Given the description of an element on the screen output the (x, y) to click on. 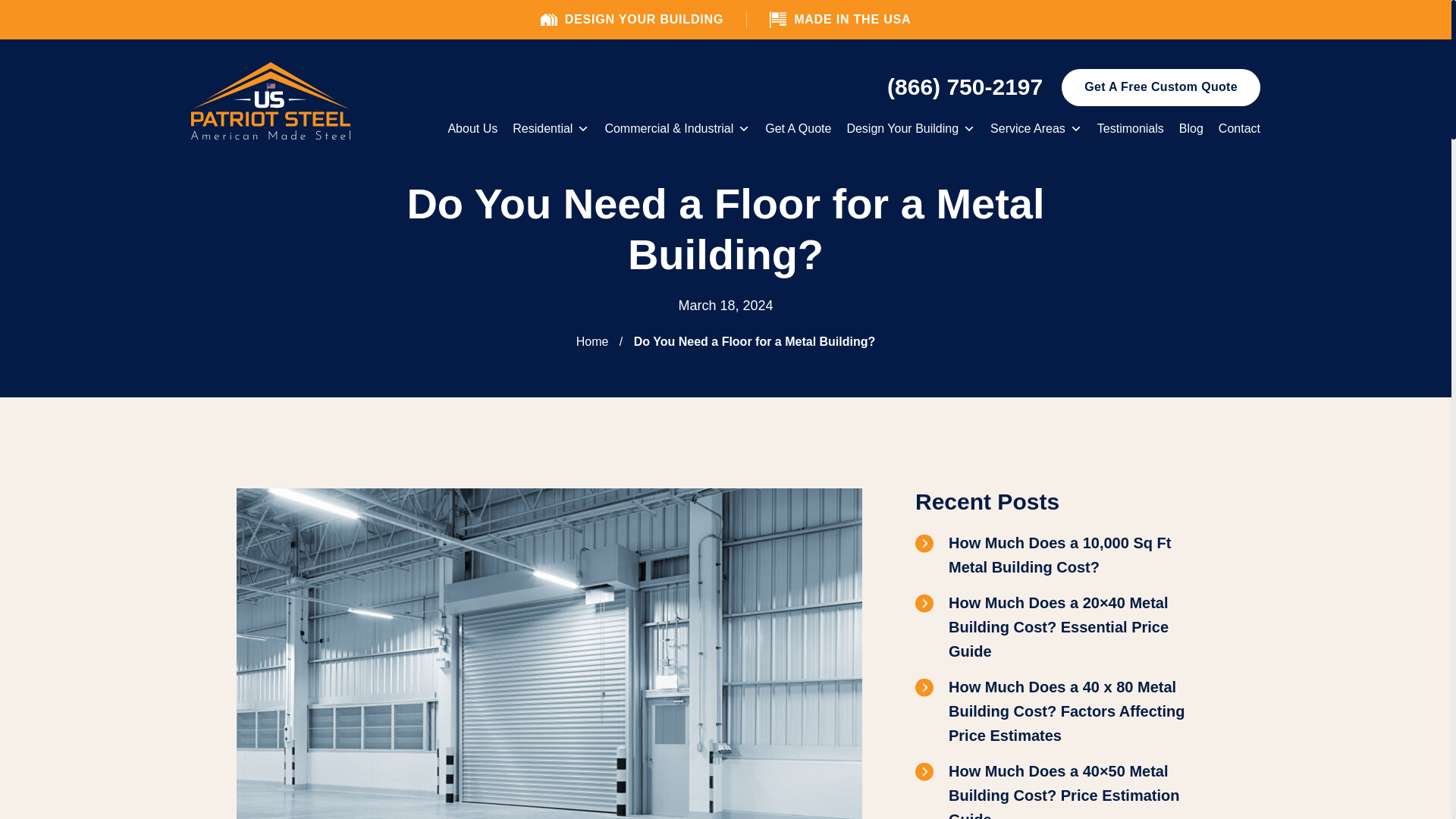
Get A Free Custom Quote (1160, 87)
Call Us! (964, 86)
US Patriot Steel (270, 101)
